Given the description of an element on the screen output the (x, y) to click on. 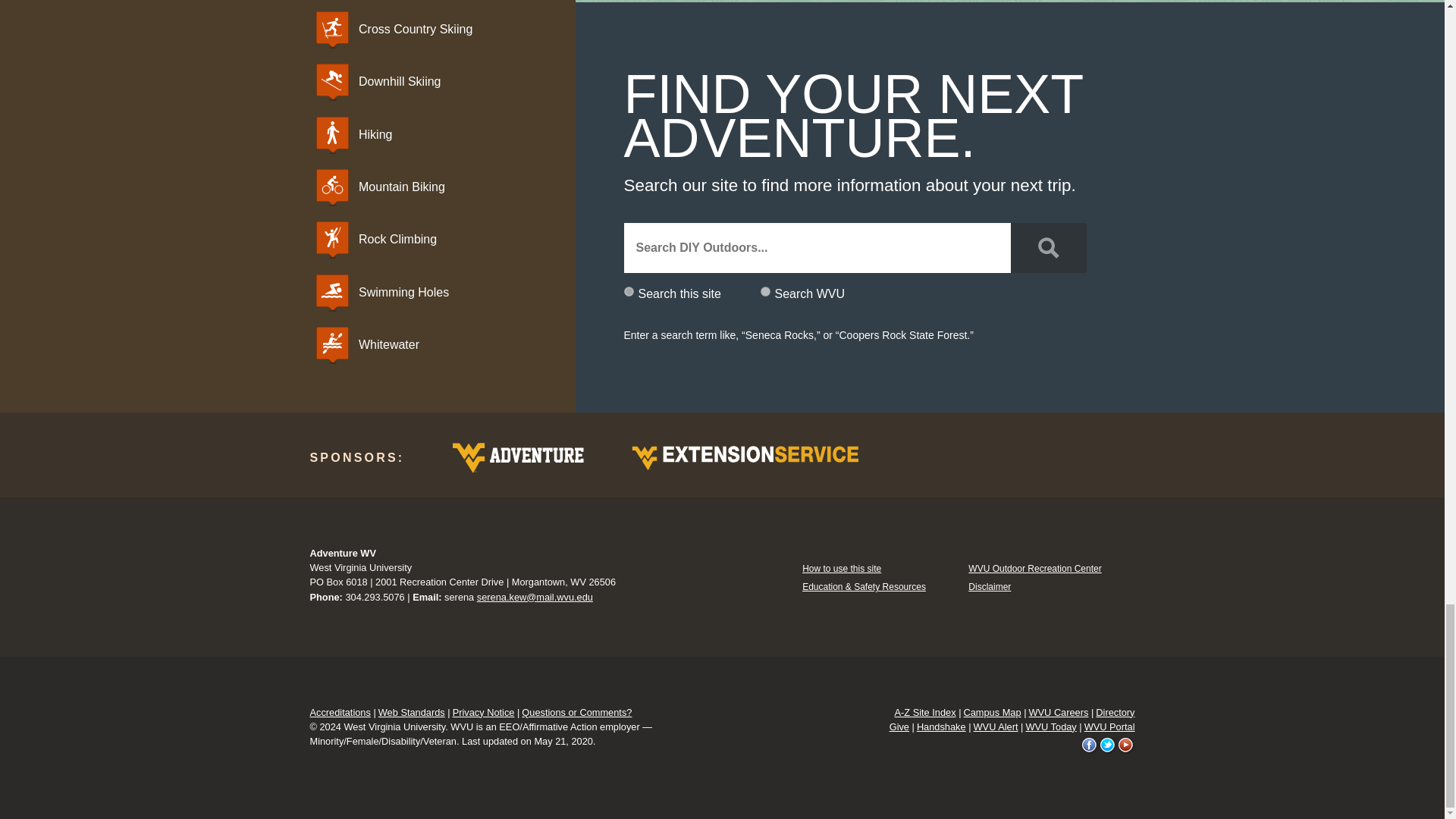
wvu.edu (765, 291)
Search (1048, 247)
Search (1048, 247)
wvu.edu (765, 291)
diyoutdoors.wvu.edu (628, 291)
diyoutdoors.wvu.edu (628, 291)
